Given the description of an element on the screen output the (x, y) to click on. 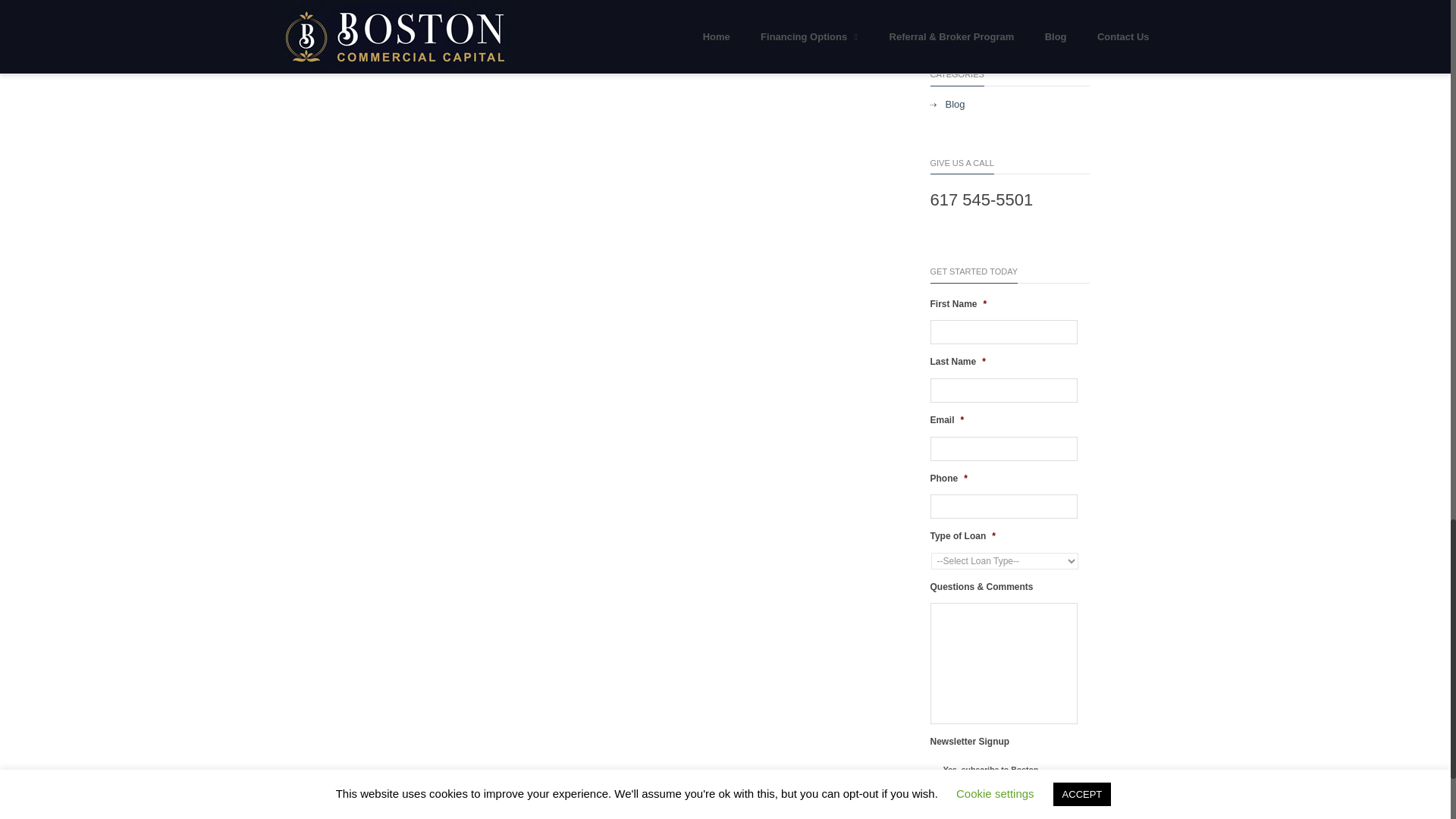
Yes, subscribe to Boston Commercial Capital's newsletters (935, 779)
Submit (952, 816)
